Given the description of an element on the screen output the (x, y) to click on. 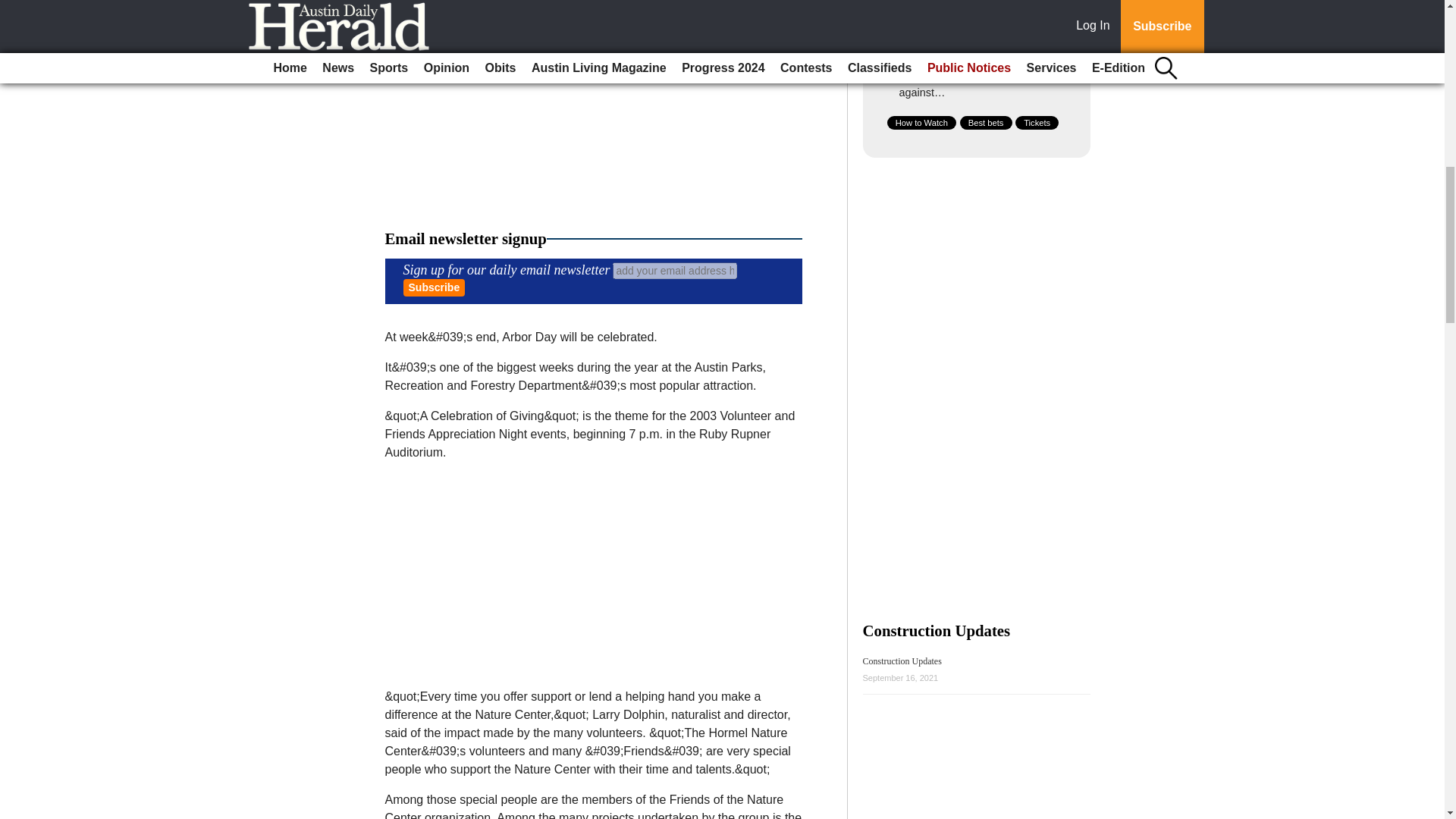
Subscribe (434, 287)
